Given the description of an element on the screen output the (x, y) to click on. 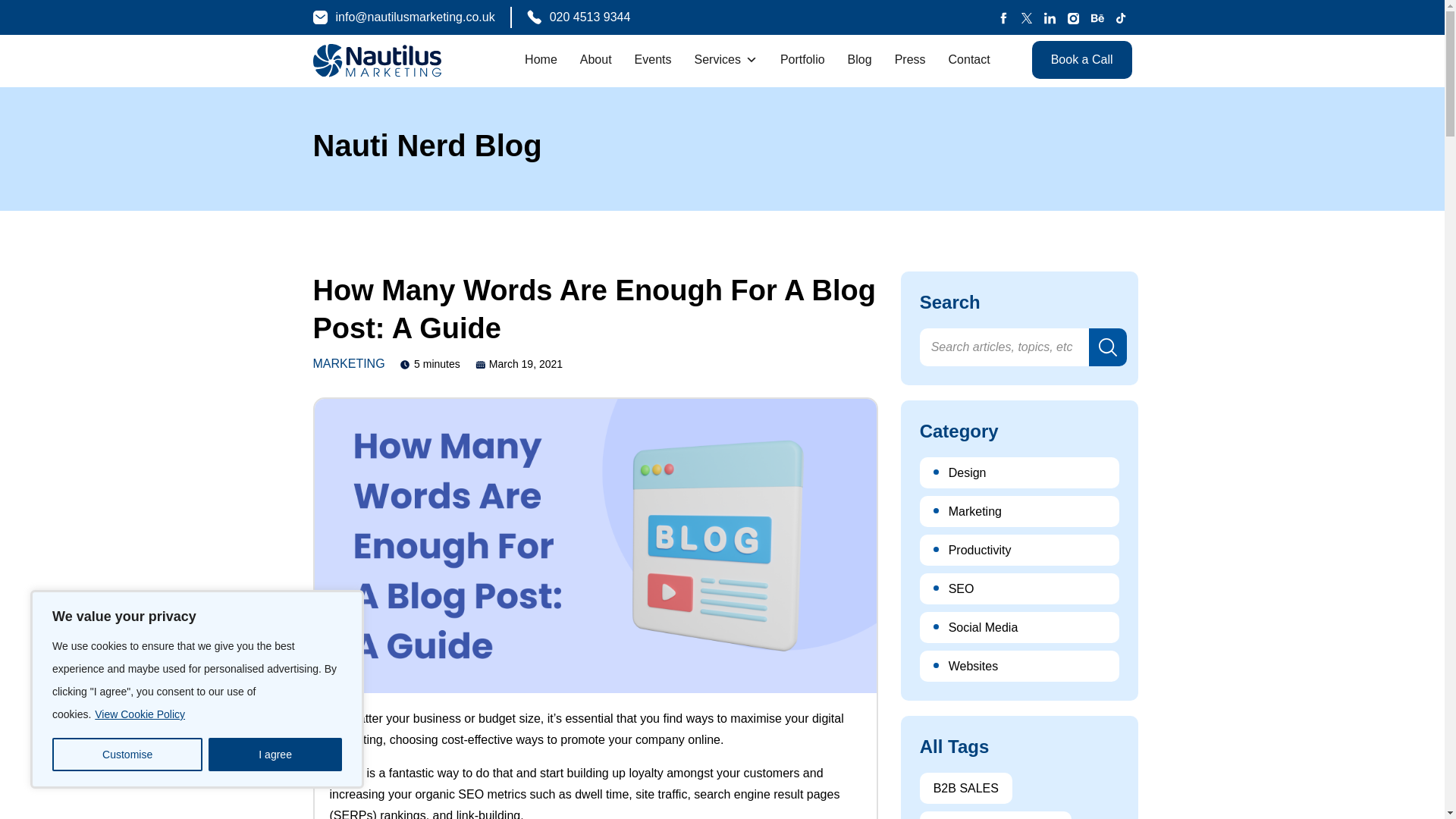
I agree (275, 754)
Services (726, 59)
View Cookie Policy (140, 714)
020 4513 9344 (578, 16)
Customise (127, 754)
